Given the description of an element on the screen output the (x, y) to click on. 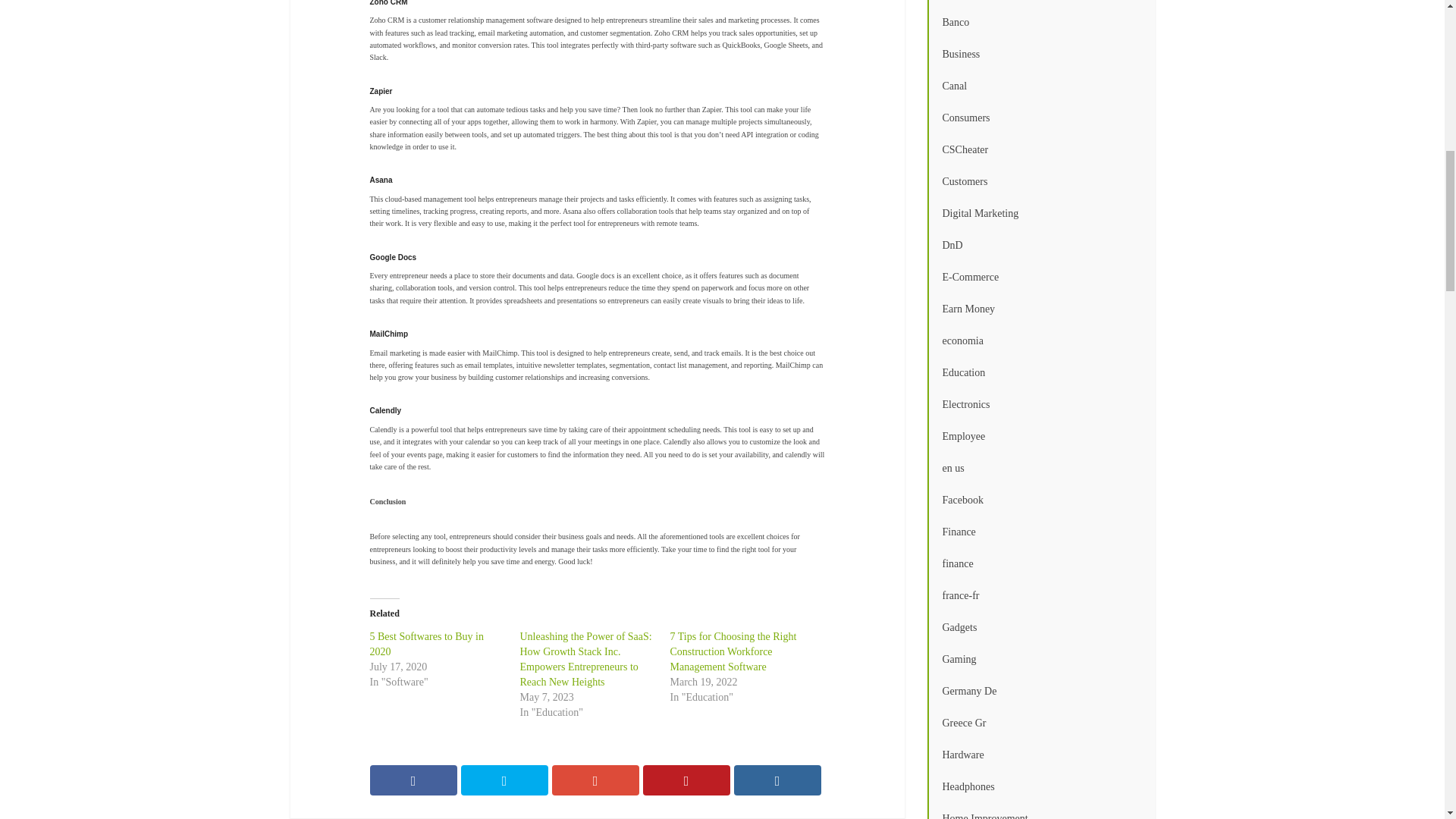
5 Best Softwares to Buy in 2020 (426, 643)
5 Best Softwares to Buy in 2020 (426, 643)
